Given the description of an element on the screen output the (x, y) to click on. 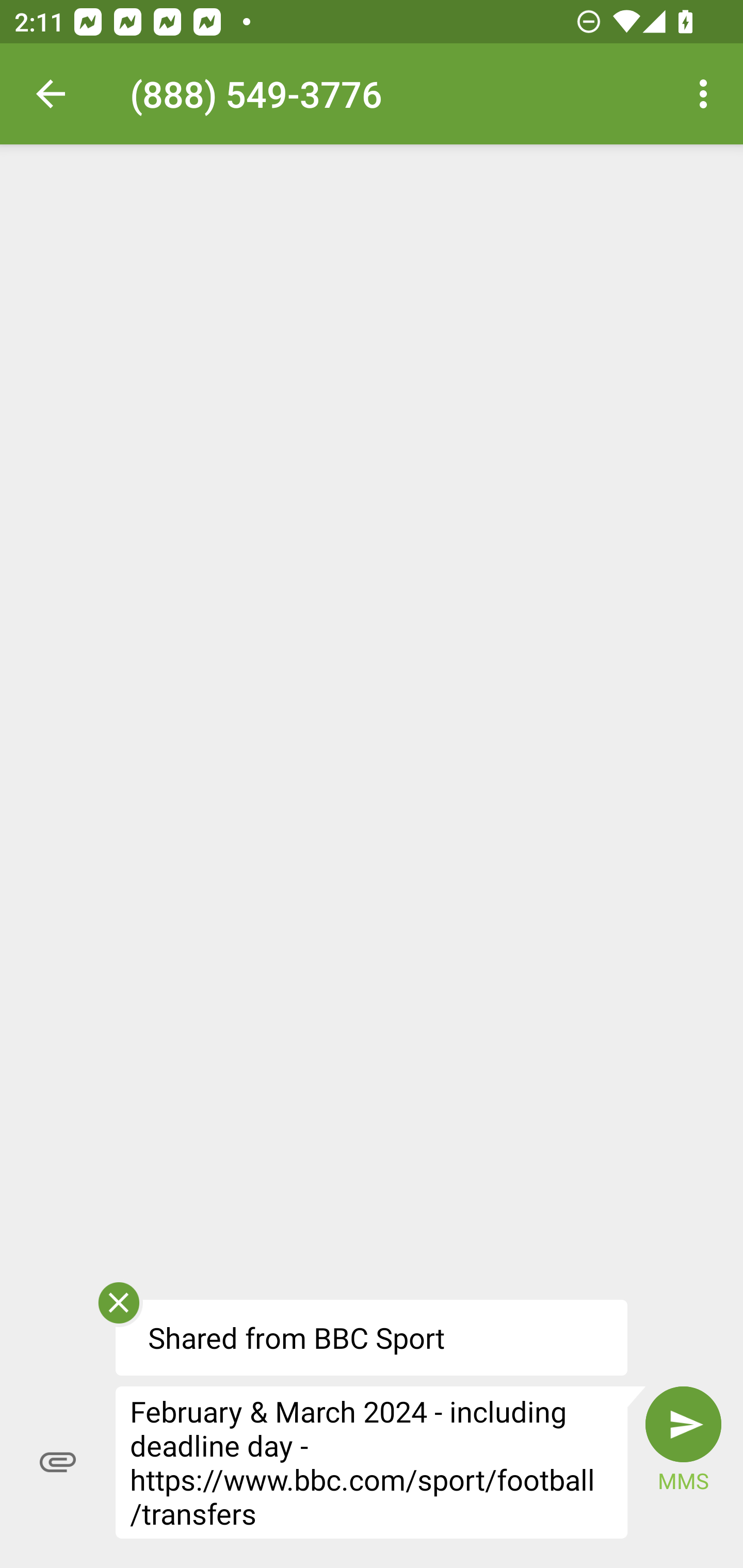
Navigate up (50, 93)
More options (706, 93)
Delete subject (117, 1309)
Shared from BBC Sport (371, 1337)
Add an attachment (57, 1462)
